Given the description of an element on the screen output the (x, y) to click on. 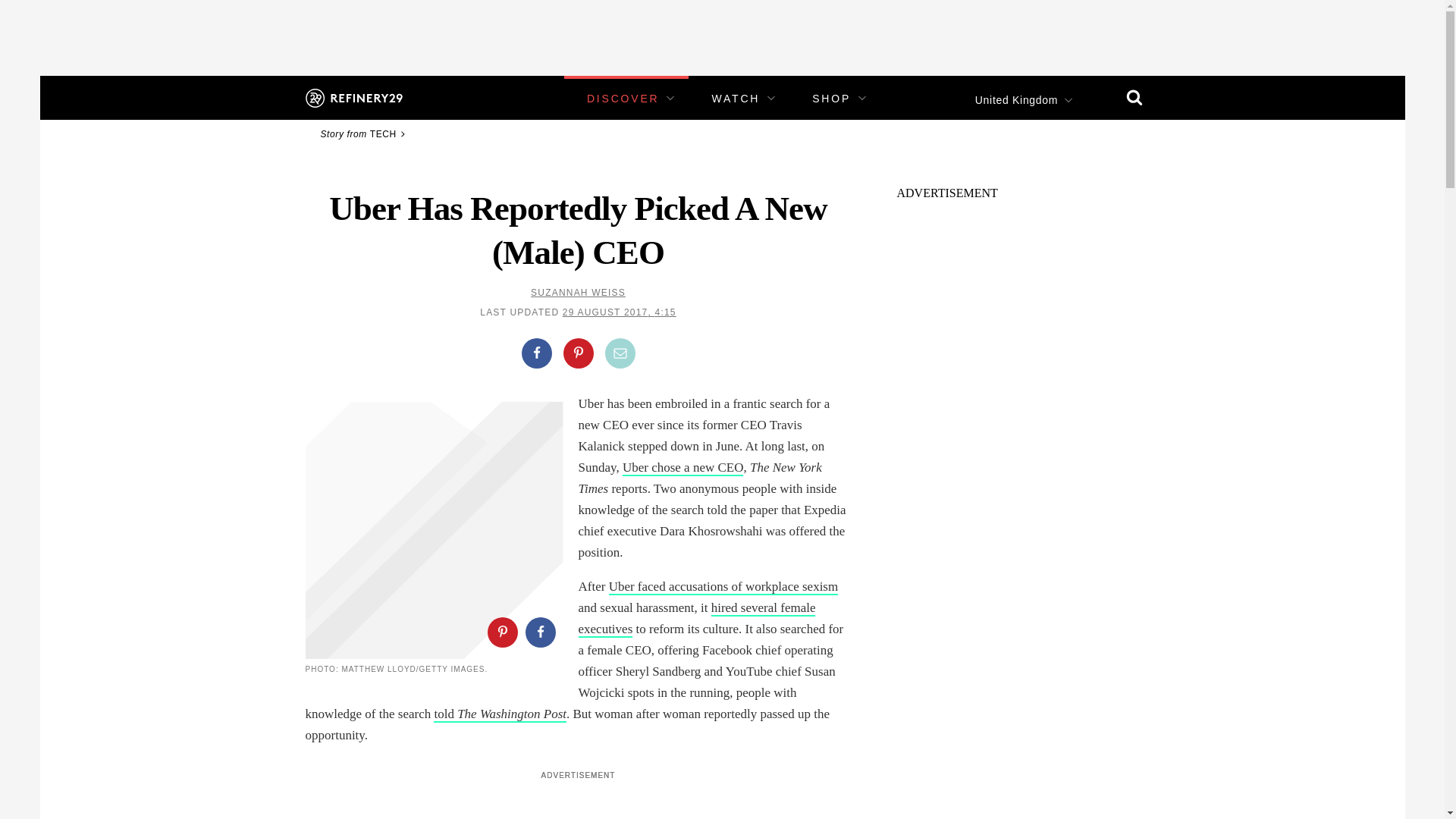
Share on Pinterest (501, 632)
Uber chose a new CEO (683, 467)
WATCH (735, 98)
Story from TECH (364, 133)
Share on Facebook (536, 353)
SUZANNAH WEISS (578, 292)
hired several female executives (696, 619)
Share on Pinterest (577, 353)
Uber faced accusations of workplace sexism (723, 587)
SHOP (831, 98)
Share by Email (619, 353)
Refinery29 (352, 97)
DISCOVER (622, 98)
told The Washington Post (499, 714)
29 AUGUST 2017, 4:15 (619, 312)
